Given the description of an element on the screen output the (x, y) to click on. 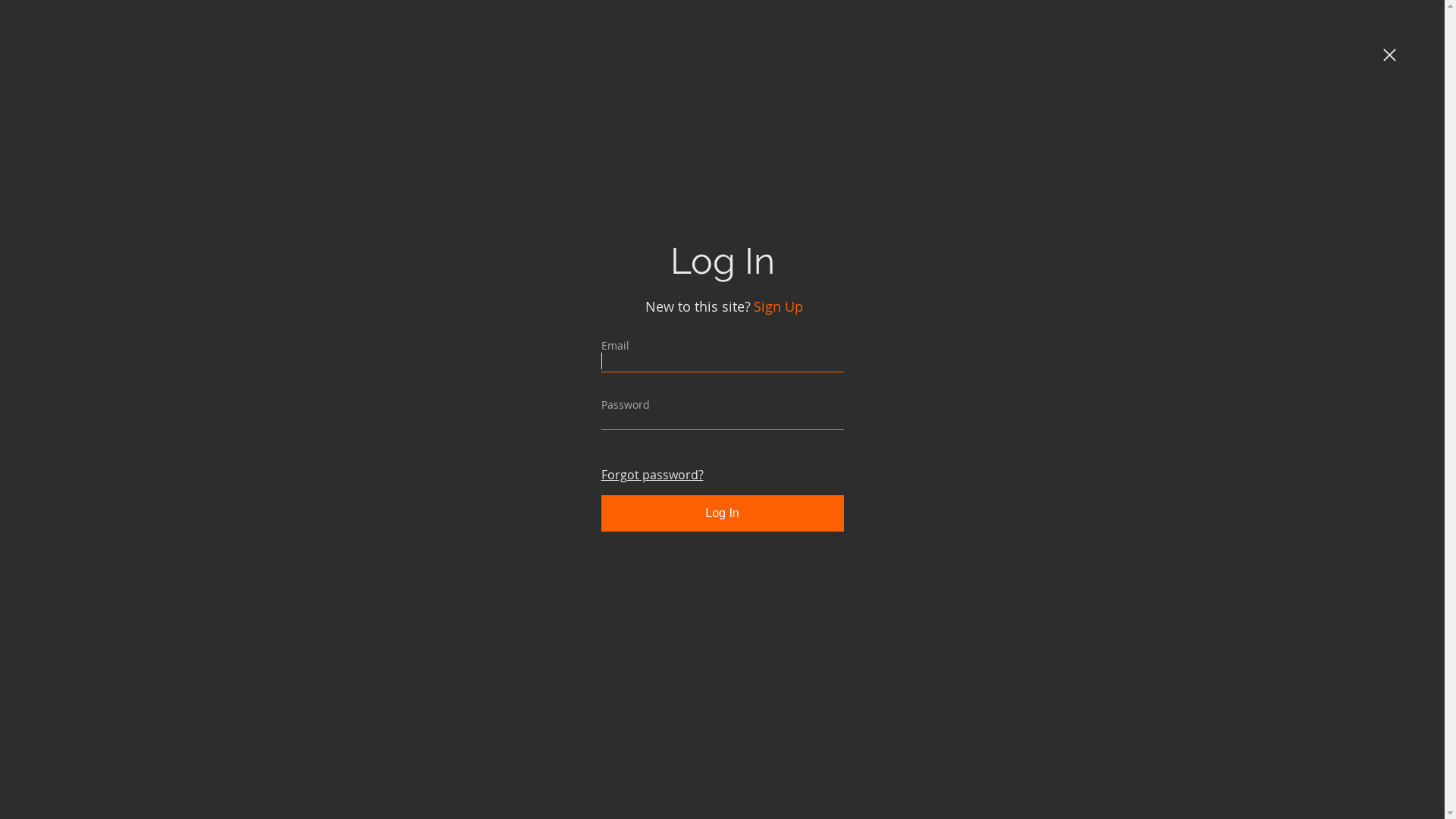
Sign Up Element type: text (778, 306)
Log In Element type: text (721, 513)
Forgot password? Element type: text (651, 474)
